Given the description of an element on the screen output the (x, y) to click on. 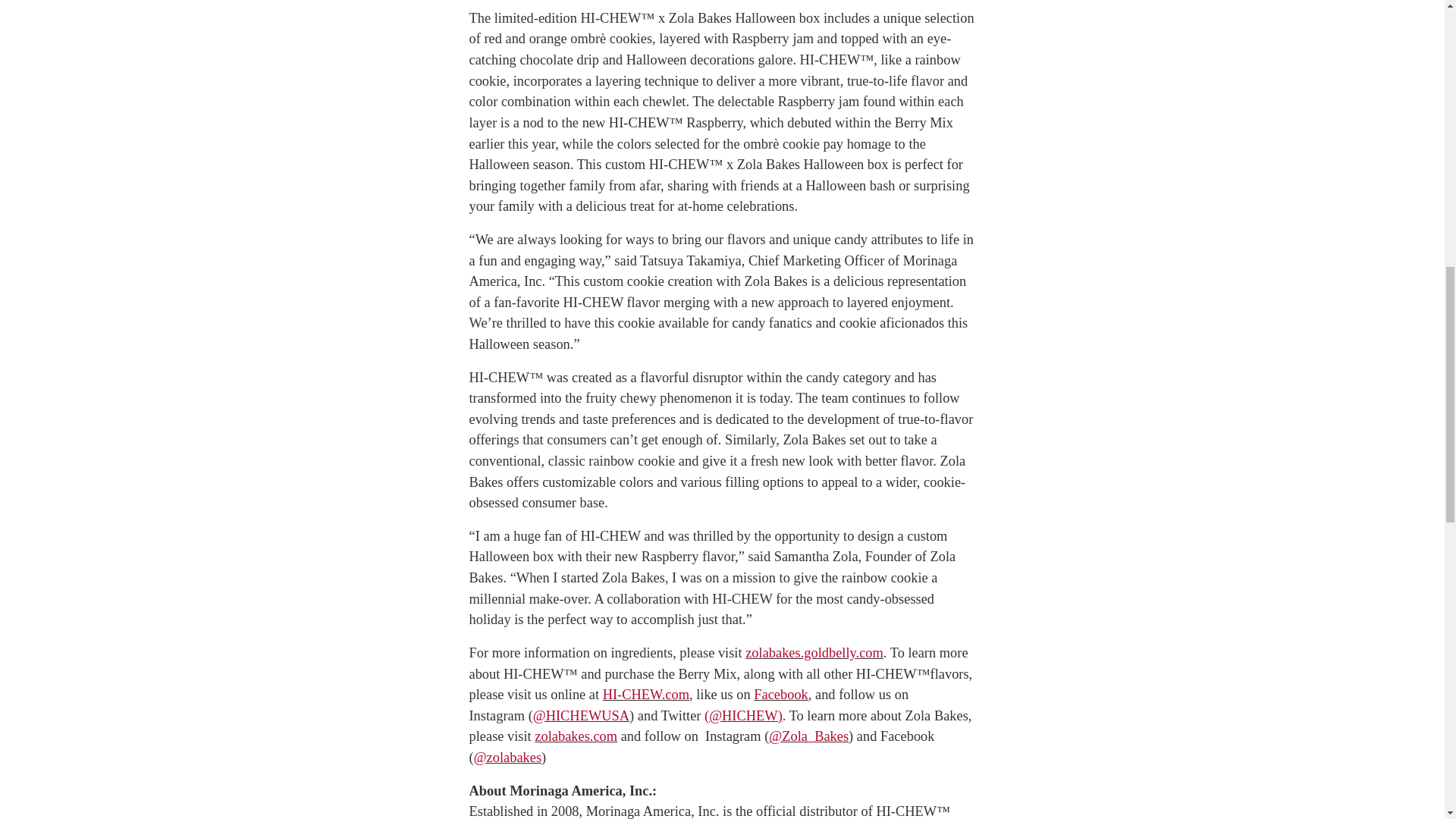
Facebook (781, 694)
HI-CHEW.com (645, 694)
zolabakes.com (575, 735)
zolabakes.goldbelly.com (814, 652)
